Given the description of an element on the screen output the (x, y) to click on. 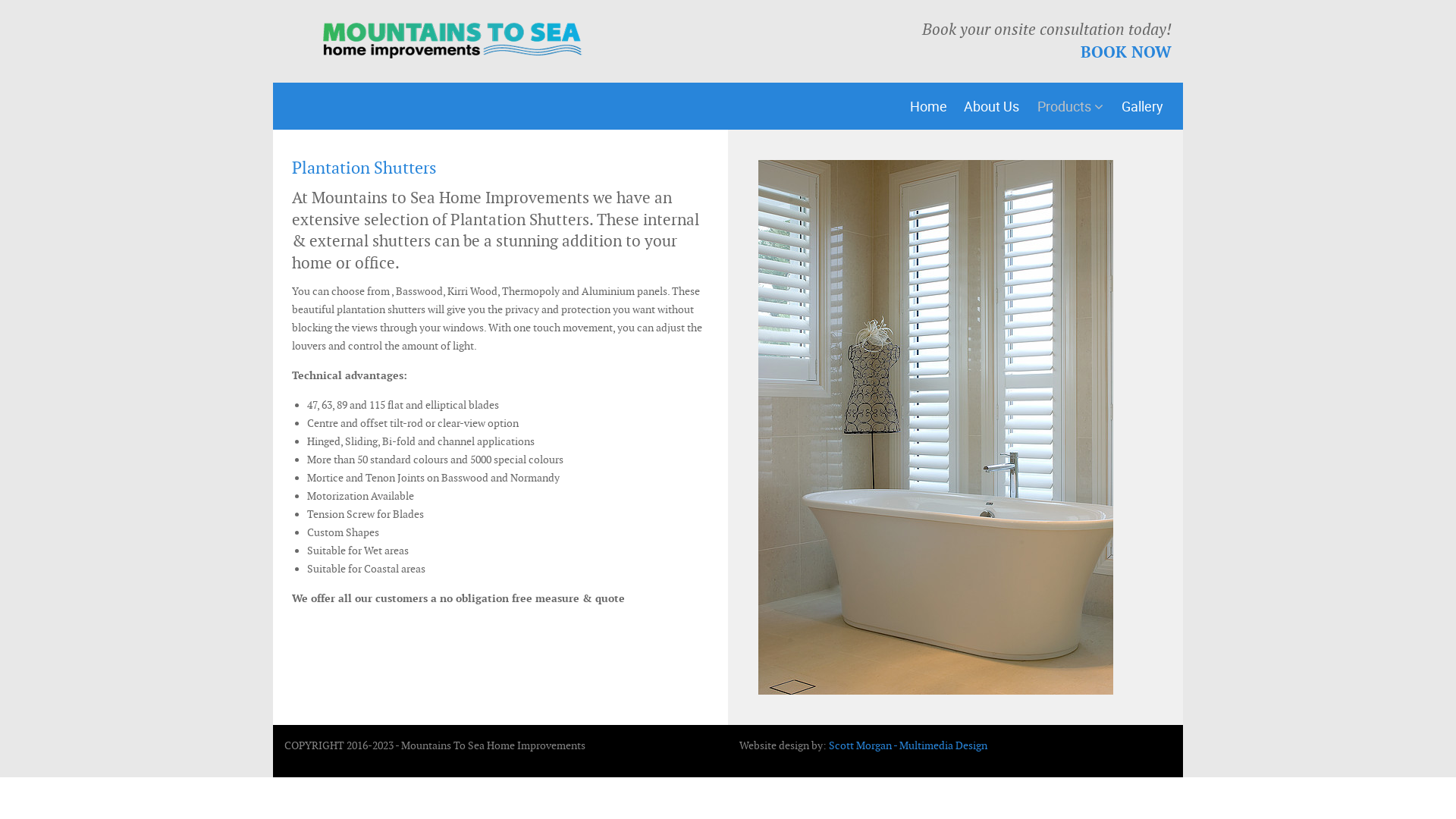
Products Element type: text (1070, 105)
Home Element type: text (928, 105)
BOOK NOW Element type: text (1125, 51)
About Us Element type: text (991, 105)
Plantation Shutters Element type: text (363, 167)
Gallery Element type: text (1141, 105)
Scott Morgan - Multimedia Design Element type: text (907, 745)
